Given the description of an element on the screen output the (x, y) to click on. 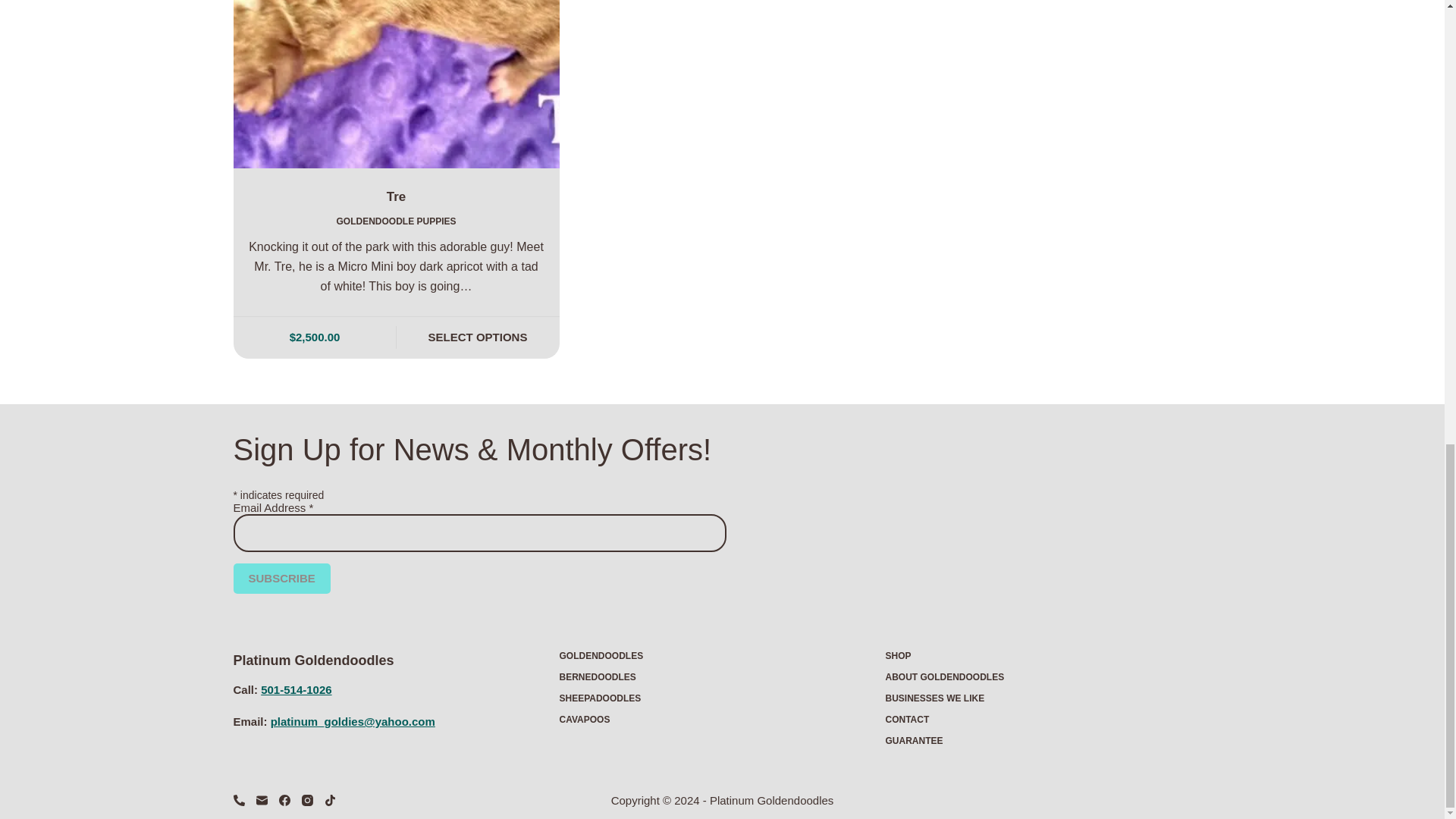
Subscribe (281, 578)
tre1 (395, 84)
